Given the description of an element on the screen output the (x, y) to click on. 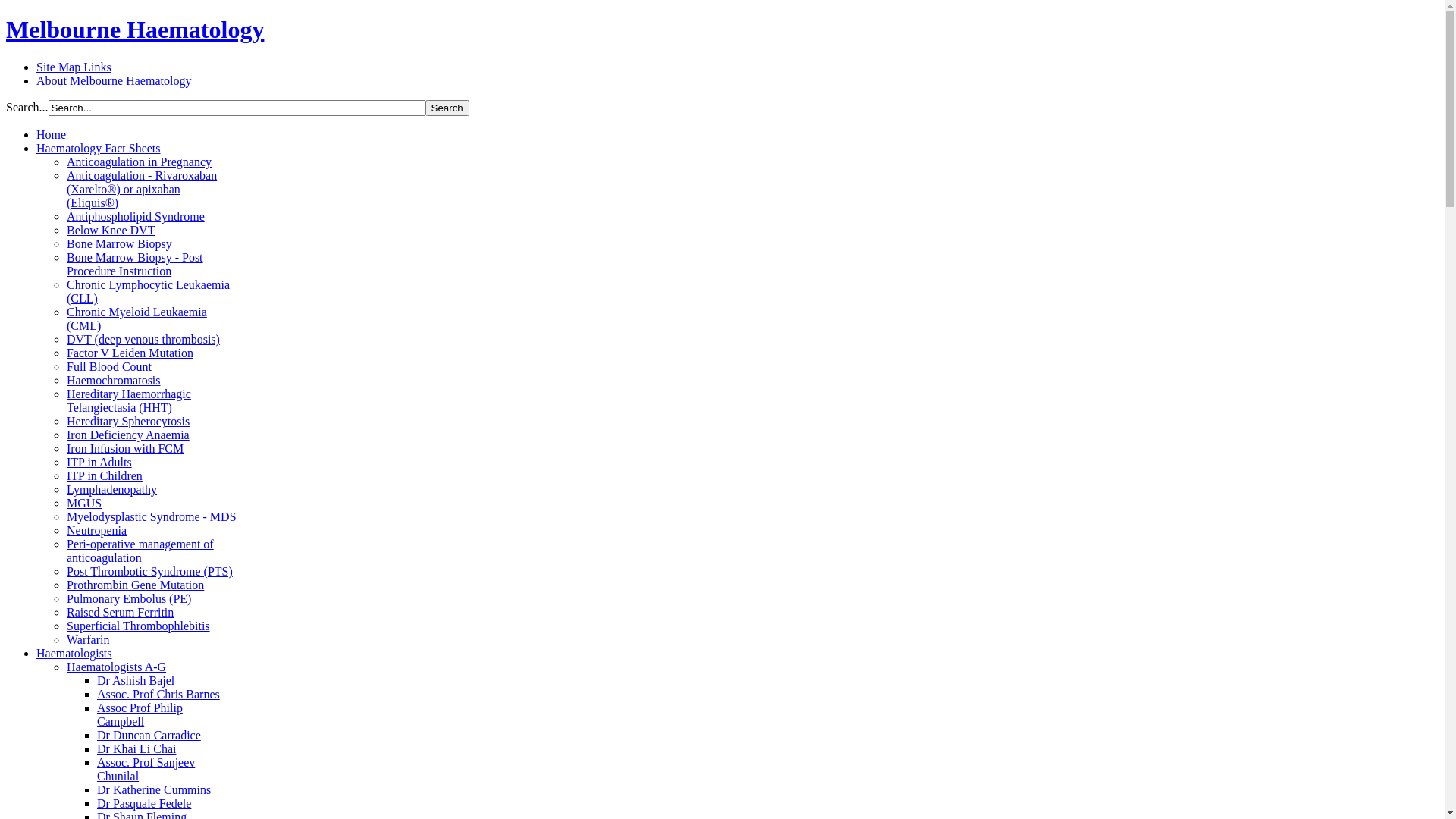
Factor V Leiden Mutation Element type: text (129, 352)
Assoc. Prof Chris Barnes Element type: text (158, 693)
Superficial Thrombophlebitis Element type: text (138, 625)
Assoc Prof Philip Campbell Element type: text (139, 714)
Bone Marrow Biopsy - Post Procedure Instruction Element type: text (134, 264)
Full Blood Count Element type: text (108, 366)
Prothrombin Gene Mutation Element type: text (134, 584)
MGUS Element type: text (83, 502)
Dr Duncan Carradice Element type: text (148, 734)
Raised Serum Ferritin Element type: text (119, 611)
Peri-operative management of anticoagulation Element type: text (139, 550)
Haematology Fact Sheets Element type: text (98, 147)
Assoc. Prof Sanjeev Chunilal Element type: text (145, 769)
Hereditary Haemorrhagic Telangiectasia (HHT) Element type: text (128, 400)
About Melbourne Haematology Element type: text (113, 80)
Melbourne Haematology Element type: text (134, 29)
Search Element type: text (447, 108)
Antiphospholipid Syndrome Element type: text (135, 216)
Iron Infusion with FCM Element type: text (124, 448)
Haematologists A-G Element type: text (116, 666)
Bone Marrow Biopsy Element type: text (119, 243)
Iron Deficiency Anaemia Element type: text (127, 434)
Dr Katherine Cummins Element type: text (153, 789)
ITP in Adults Element type: text (98, 461)
Post Thrombotic Syndrome (PTS) Element type: text (149, 570)
Dr Khai Li Chai Element type: text (136, 748)
ITP in Children Element type: text (104, 475)
Site Map Links Element type: text (73, 66)
Myelodysplastic Syndrome - MDS Element type: text (151, 516)
Below Knee DVT Element type: text (110, 229)
DVT (deep venous thrombosis) Element type: text (142, 338)
Warfarin Element type: text (87, 639)
Haemochromatosis Element type: text (113, 379)
Hereditary Spherocytosis Element type: text (127, 420)
Lymphadenopathy Element type: text (111, 489)
Dr Pasquale Fedele Element type: text (144, 803)
Home Element type: text (50, 134)
Dr Ashish Bajel Element type: text (135, 680)
Anticoagulation in Pregnancy Element type: text (138, 161)
Neutropenia Element type: text (96, 530)
Pulmonary Embolus (PE) Element type: text (128, 598)
Haematologists Element type: text (74, 652)
Chronic Lymphocytic Leukaemia (CLL) Element type: text (147, 291)
Chronic Myeloid Leukaemia (CML) Element type: text (136, 318)
